Given the description of an element on the screen output the (x, y) to click on. 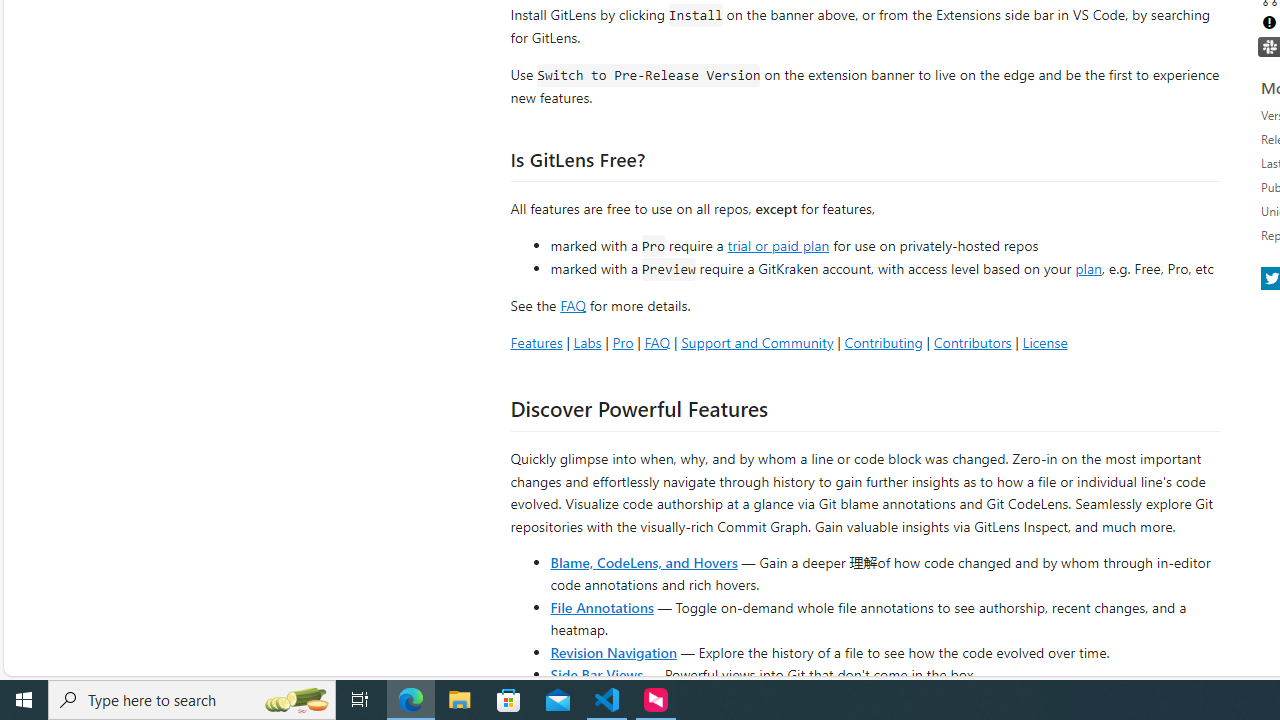
File Annotations (602, 606)
Contributing (882, 341)
